Given the description of an element on the screen output the (x, y) to click on. 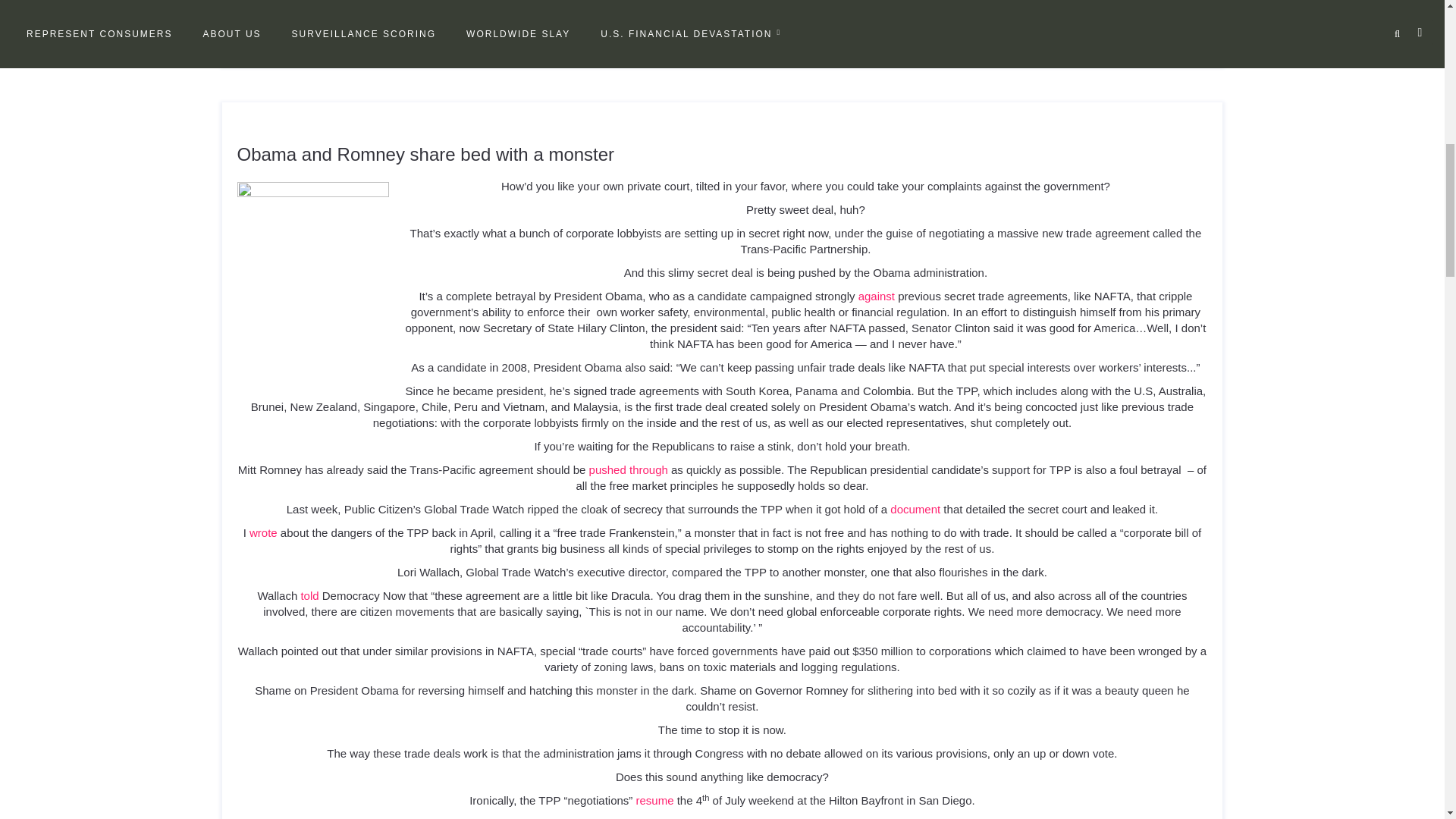
Obama and Romney share bed with a monster (424, 154)
Foreclosures (261, 41)
pushed through (628, 469)
resume (653, 799)
wrote (263, 532)
told (308, 594)
Martin Column (326, 41)
document (914, 508)
against (877, 295)
